Given the description of an element on the screen output the (x, y) to click on. 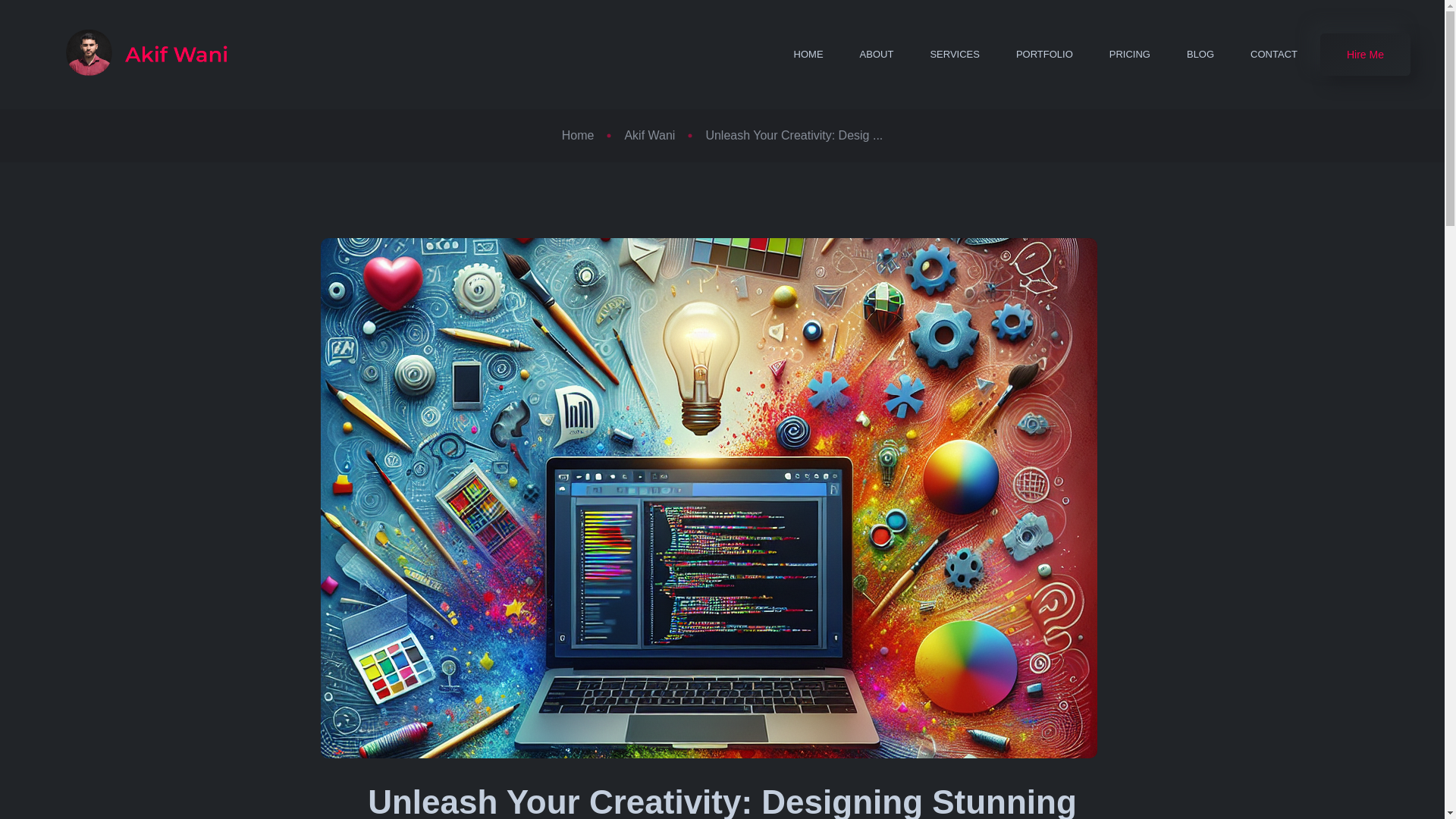
PORTFOLIO (1044, 54)
PRICING (1129, 54)
Home (578, 134)
SERVICES (954, 54)
ABOUT (876, 54)
HOME (808, 54)
Hire Me (1365, 54)
Akif Wani (649, 134)
BLOG (1200, 54)
Home (578, 134)
CONTACT (1273, 54)
The Best Freelance WordPress developer (138, 54)
